Given the description of an element on the screen output the (x, y) to click on. 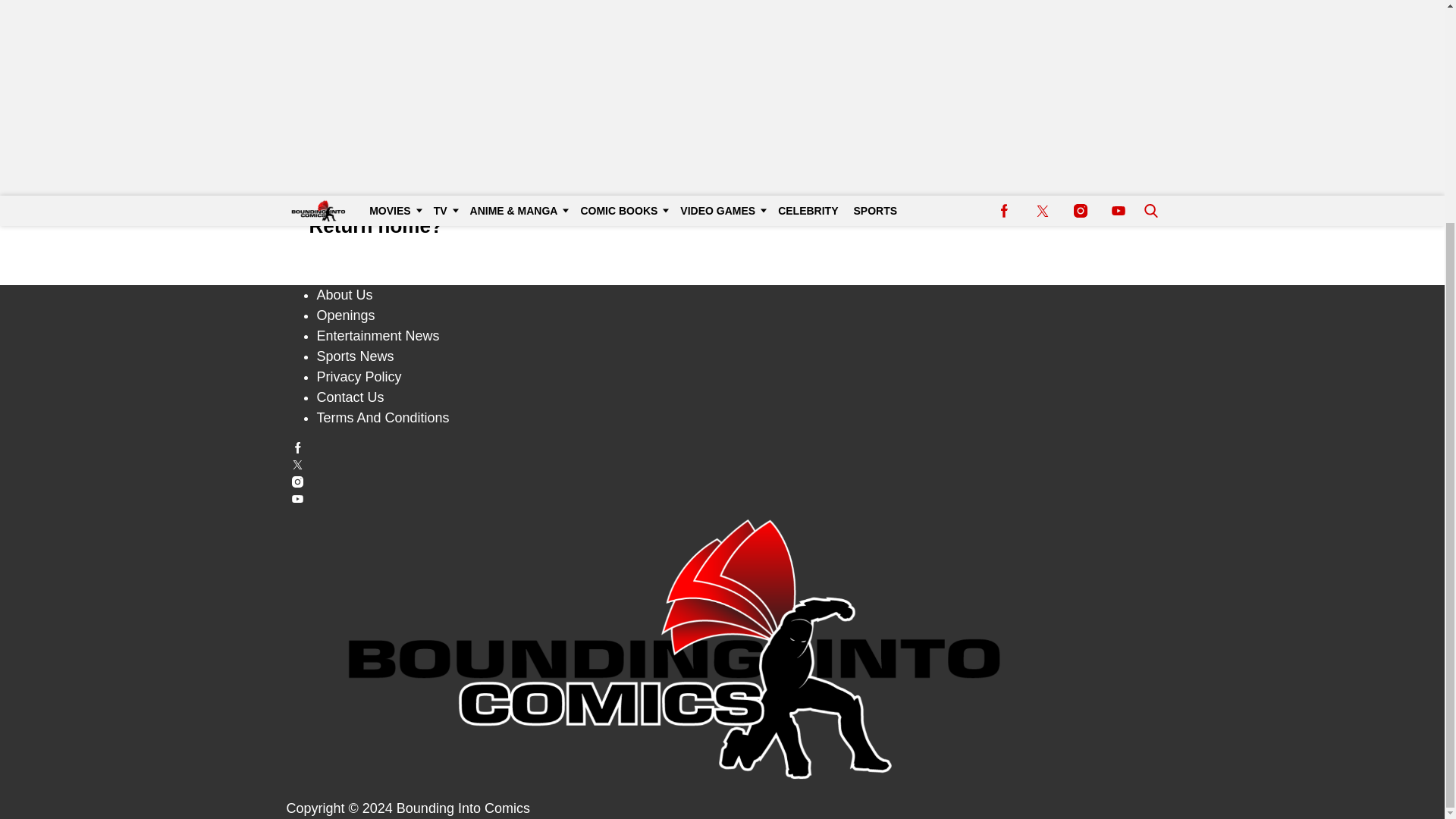
homepage (519, 185)
Follow us on Instagram (722, 480)
Openings (346, 314)
Subscribe to our YouTube channel (722, 498)
Entertainment News (378, 335)
About Us (344, 294)
Follow us on Facebook (722, 447)
Sports News (355, 355)
Return home? (375, 225)
Follow us on Twitter (722, 464)
